Given the description of an element on the screen output the (x, y) to click on. 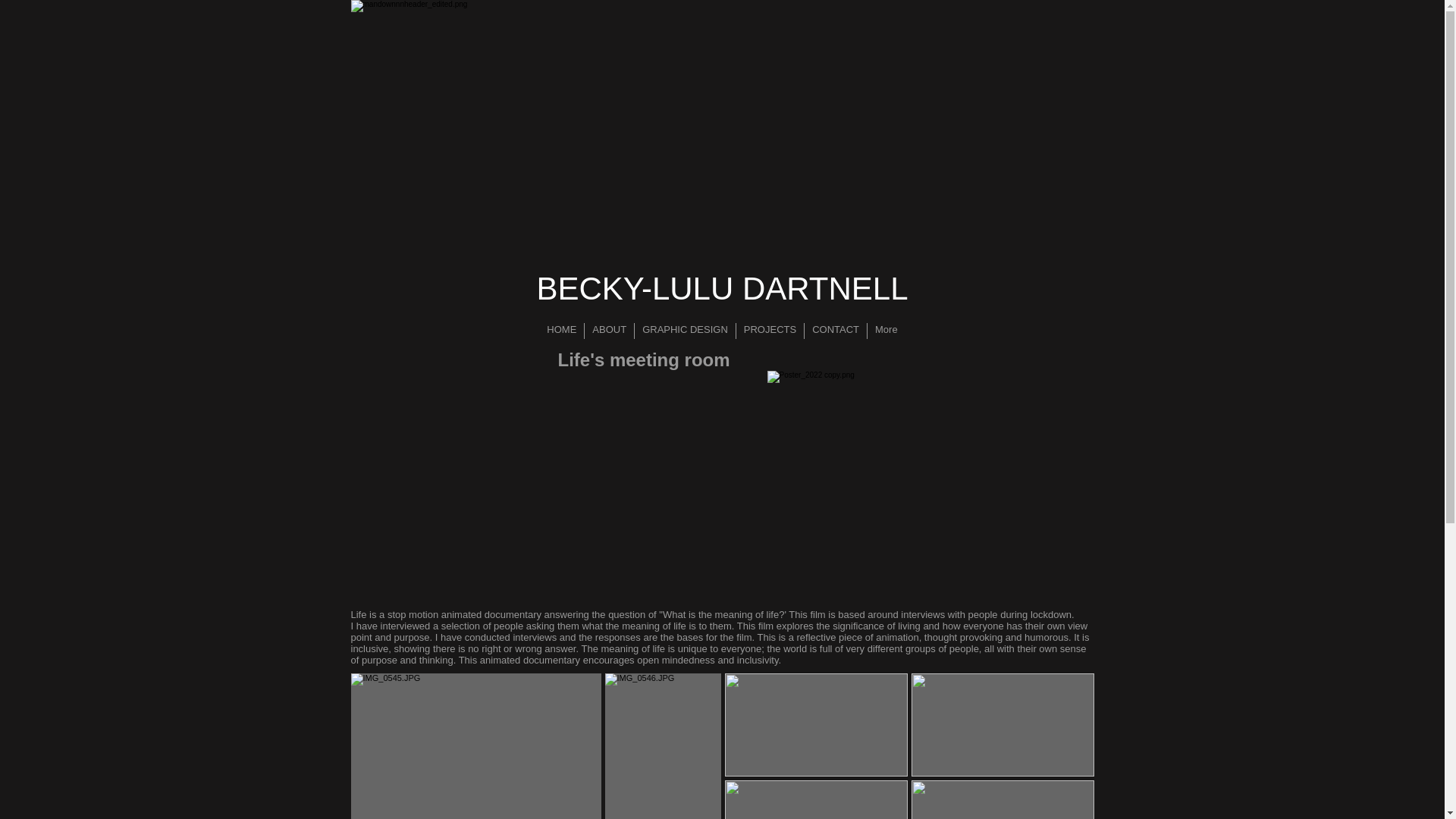
GRAPHIC DESIGN (684, 330)
HOME (560, 330)
CONTACT (835, 330)
PROJECTS (769, 330)
ABOUT (609, 330)
